Given the description of an element on the screen output the (x, y) to click on. 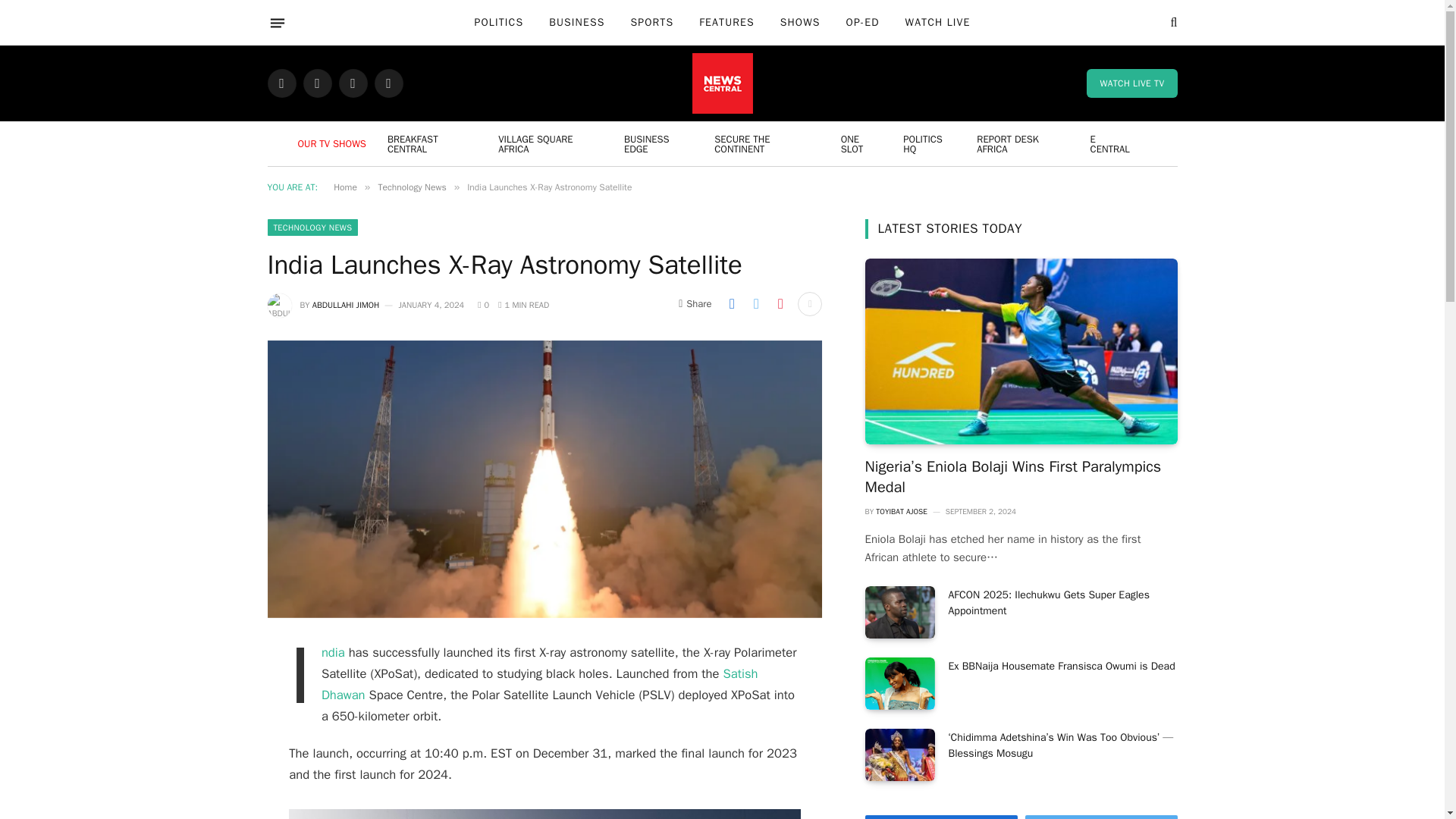
Technology News (411, 186)
POLITICS (499, 22)
E CENTRAL (1113, 143)
0 (483, 304)
BUSINESS (576, 22)
WATCH LIVE TV (1131, 82)
Facebook (280, 82)
FEATURES (726, 22)
TECHNOLOGY NEWS (312, 227)
WATCH LIVE (938, 22)
